Given the description of an element on the screen output the (x, y) to click on. 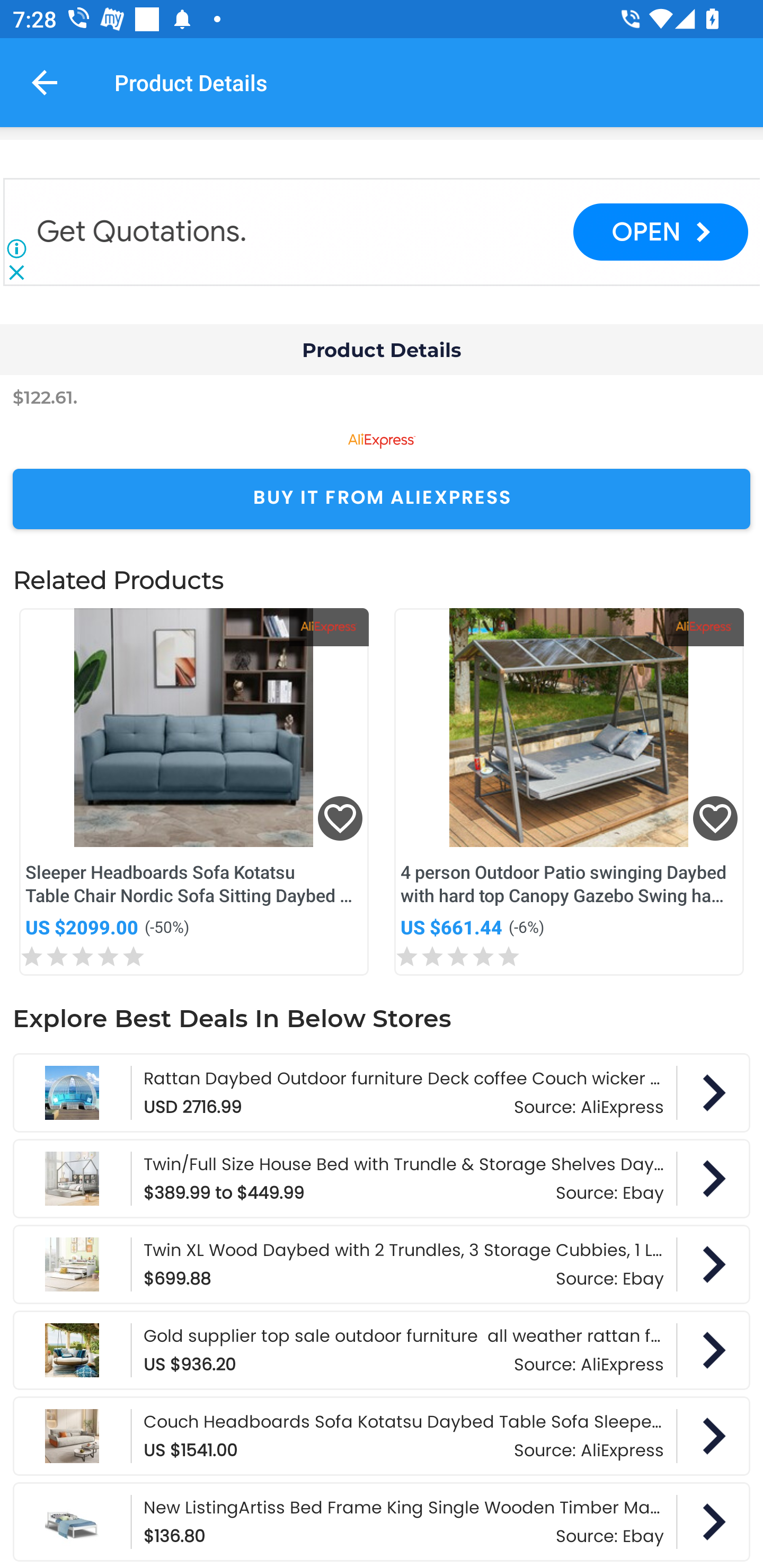
Navigate up (44, 82)
OPEN (660, 231)
Get Quotations. (143, 231)
BUY IT FROM ALIEXPRESS (381, 499)
